Given the description of an element on the screen output the (x, y) to click on. 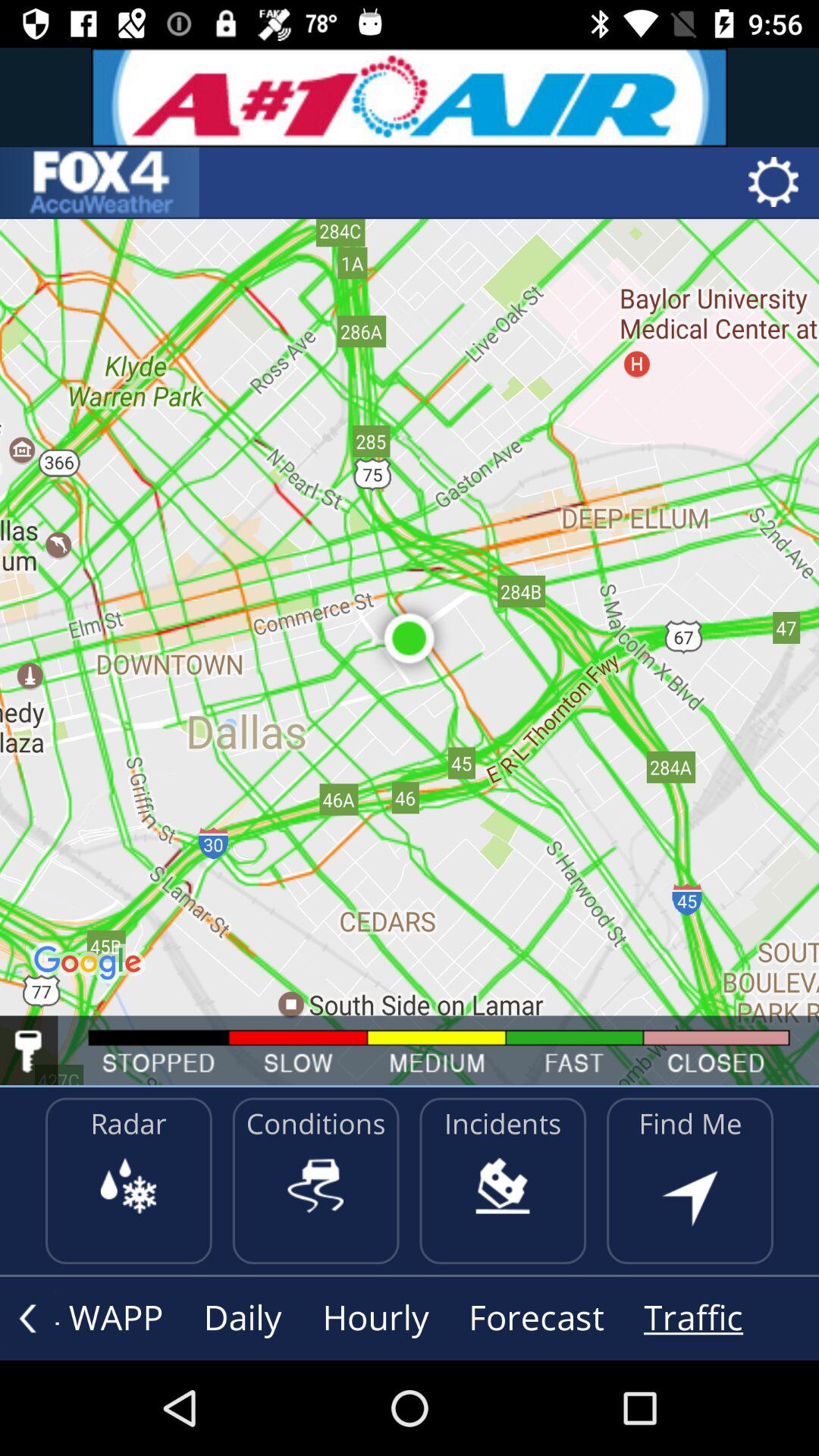
app header (99, 182)
